Given the description of an element on the screen output the (x, y) to click on. 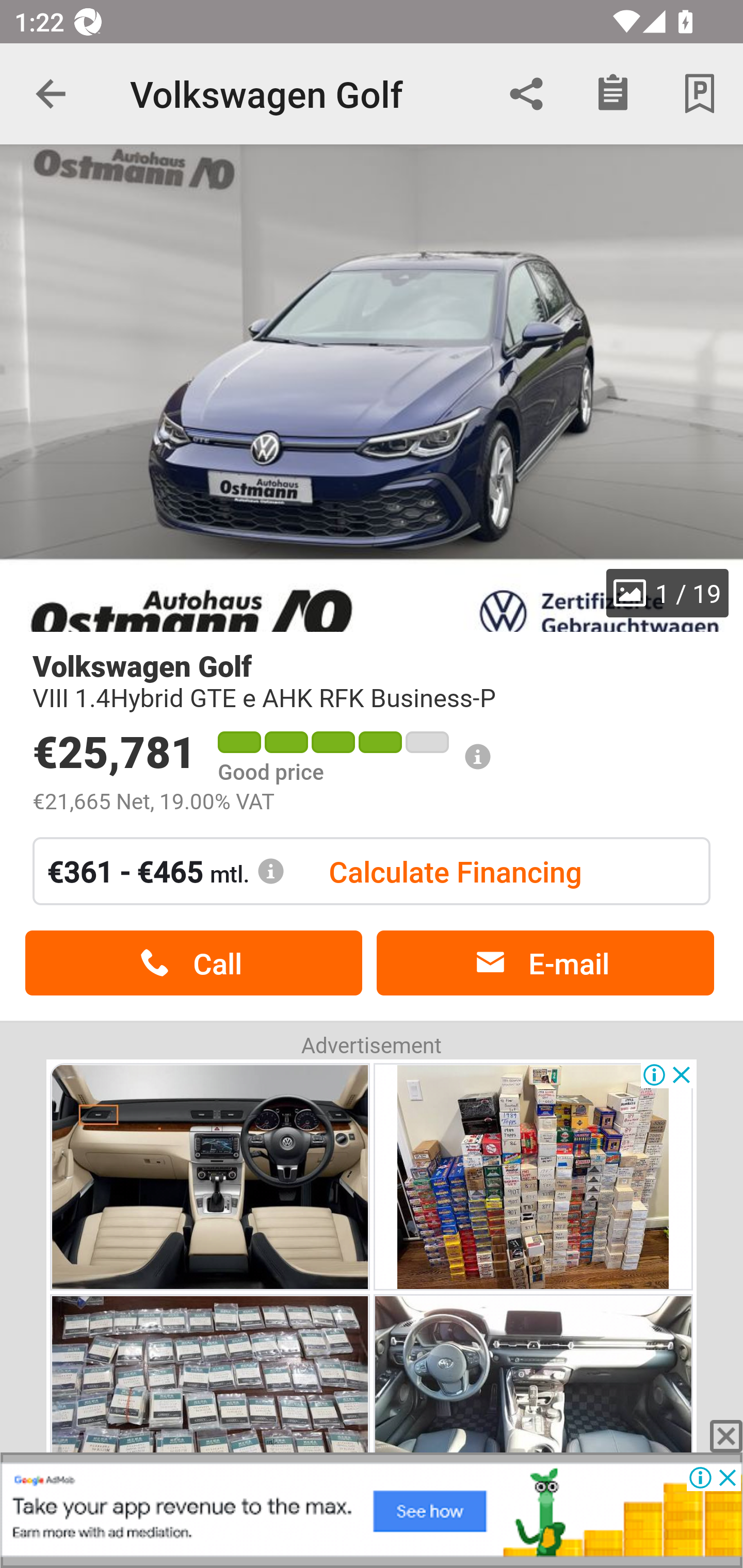
Navigate up (50, 93)
Share via (525, 93)
Checklist (612, 93)
Park (699, 93)
Calculate Financing (454, 870)
€361 - €465 mtl. (165, 870)
Call (193, 963)
E-mail (545, 963)
